Given the description of an element on the screen output the (x, y) to click on. 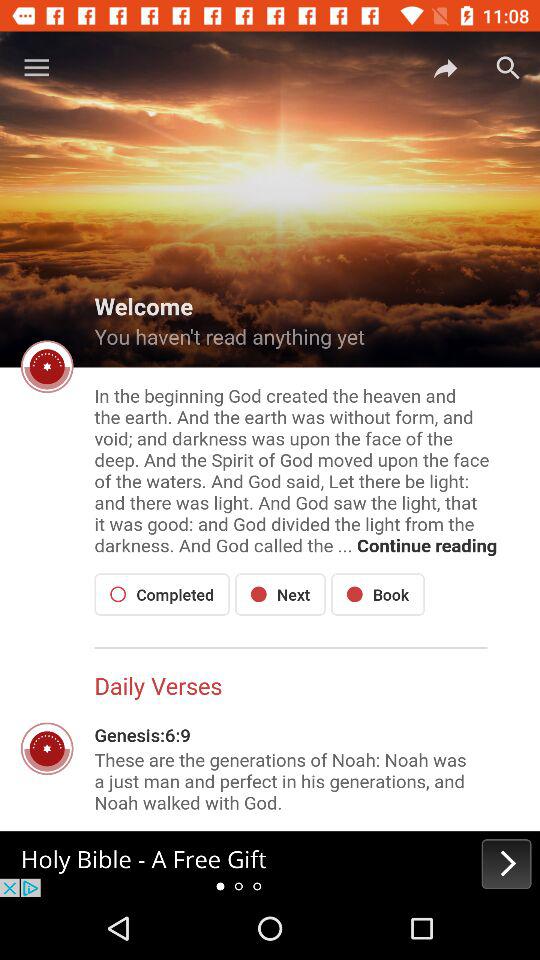
select the advertisement (270, 864)
